Given the description of an element on the screen output the (x, y) to click on. 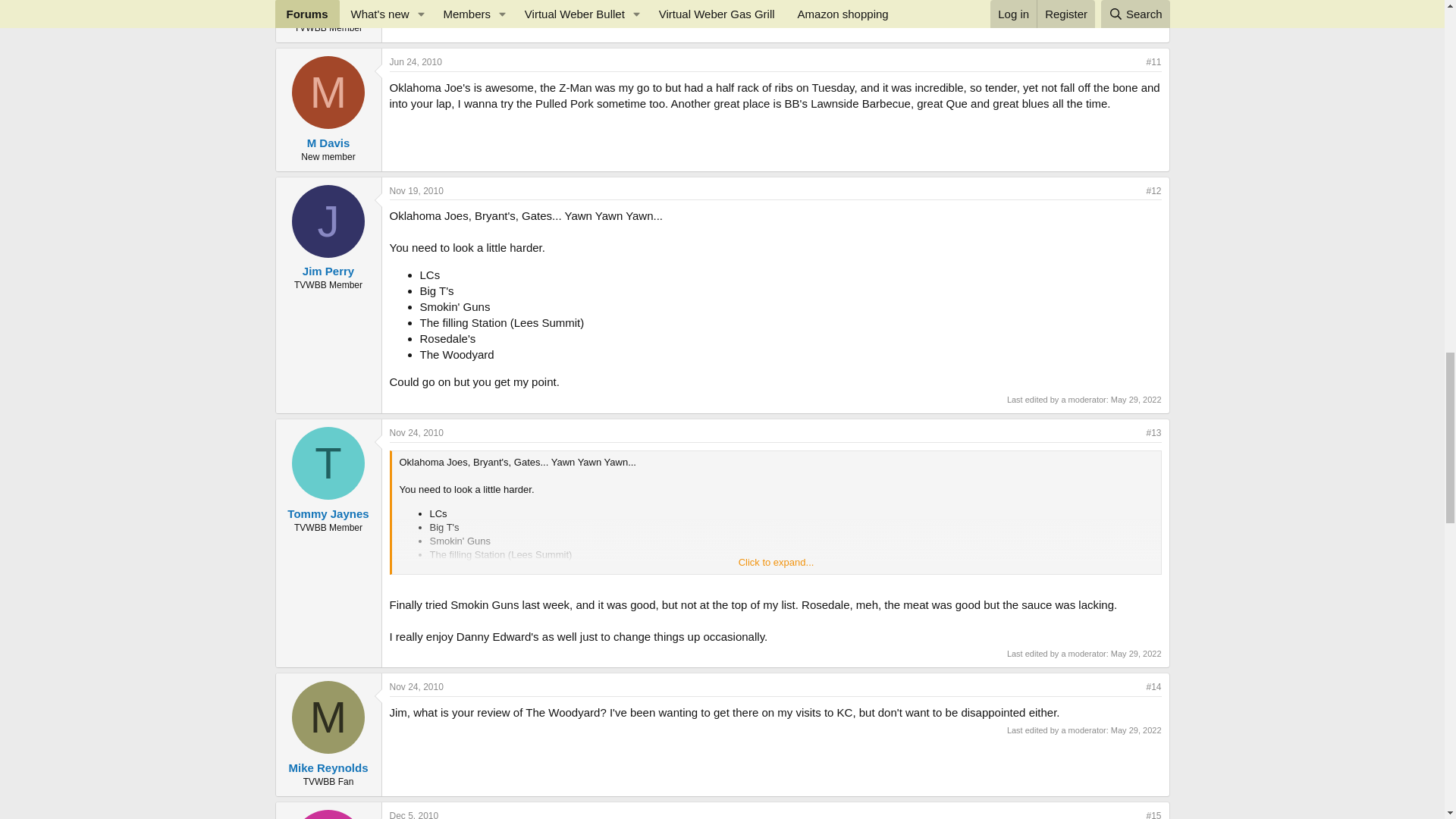
Jun 24, 2010 at 8:43 AM (416, 61)
Nov 19, 2010 at 8:31 AM (417, 190)
